Given the description of an element on the screen output the (x, y) to click on. 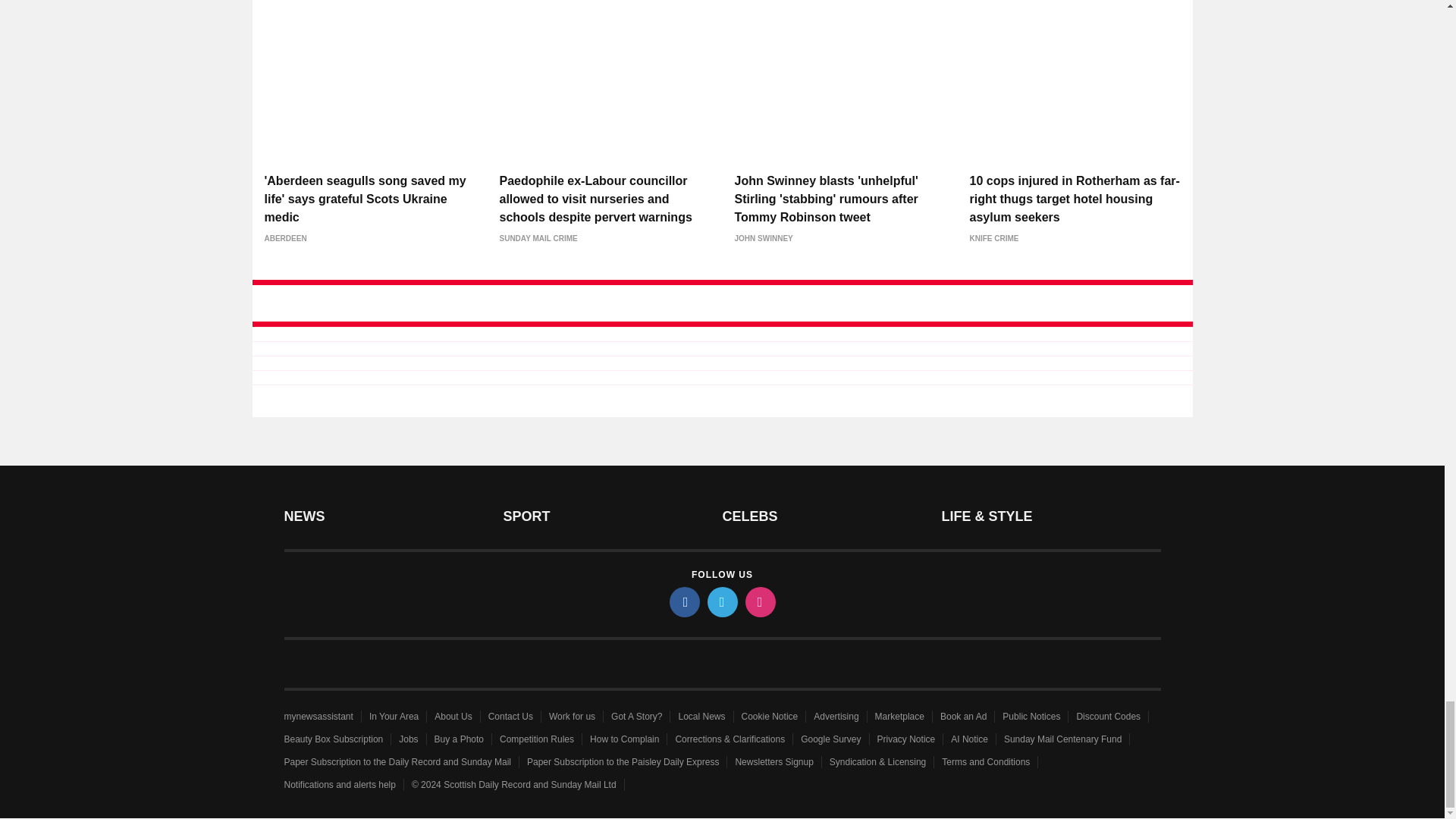
instagram (759, 602)
facebook (683, 602)
twitter (721, 602)
